Given the description of an element on the screen output the (x, y) to click on. 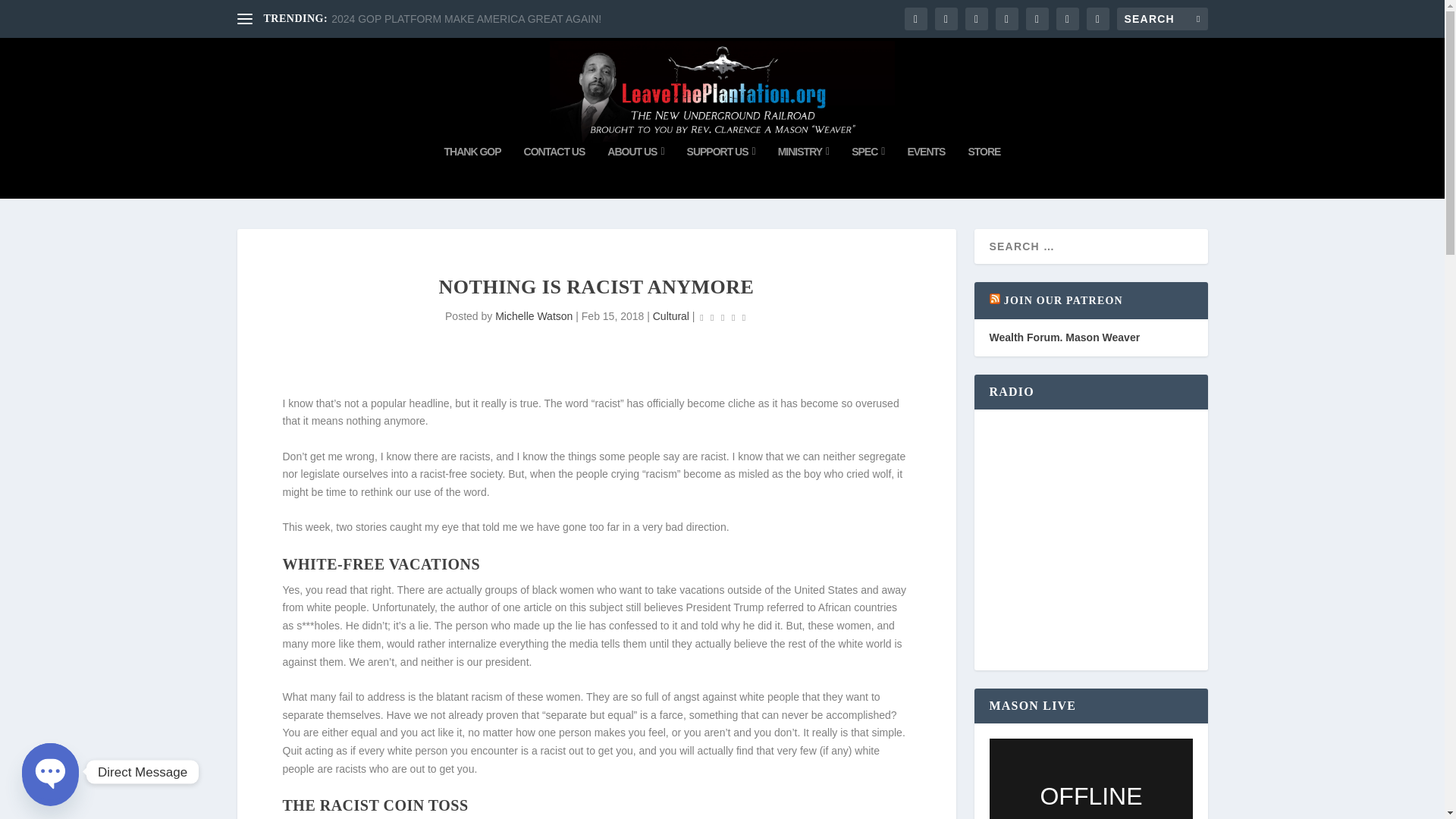
ABOUT US (635, 172)
Rating: 0.00 (722, 316)
Search for: (1161, 18)
THANK GOP (472, 172)
SUPPORT US (721, 172)
MINISTRY (803, 172)
Posts by Michelle Watson (533, 316)
2024 GOP PLATFORM MAKE AMERICA GREAT AGAIN! (466, 19)
CONTACT US (554, 172)
